Given the description of an element on the screen output the (x, y) to click on. 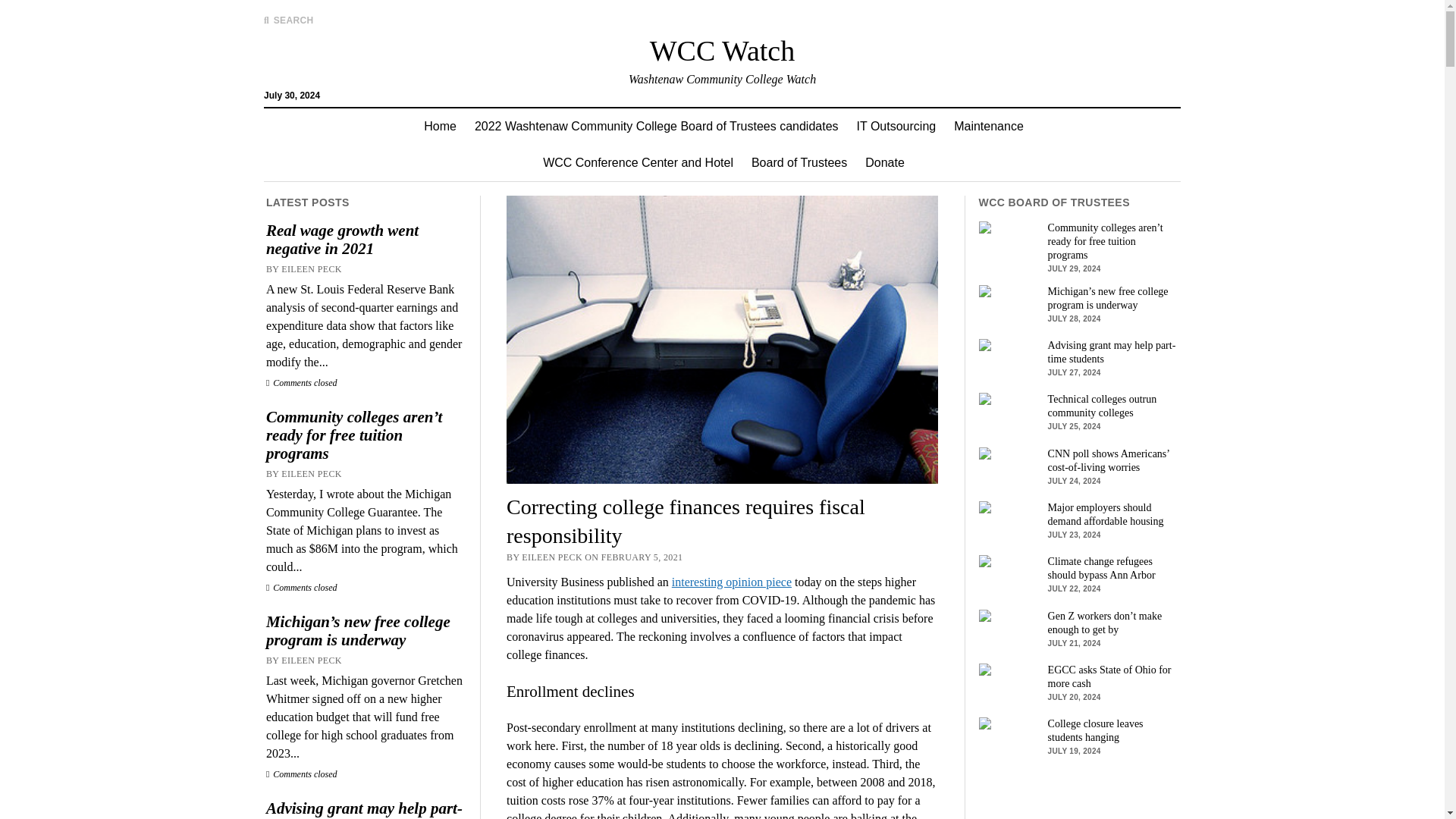
Comments closed (301, 774)
Real wage growth went negative in 2021 (365, 239)
SEARCH (288, 20)
IT Outsourcing (895, 126)
interesting opinion piece (731, 581)
WCC Watch (721, 50)
Donate (885, 162)
Search (945, 129)
Home (439, 126)
Board of Trustees (799, 162)
Comments closed (301, 587)
Maintenance (988, 126)
WCC Conference Center and Hotel (638, 162)
Comments closed (301, 382)
